Given the description of an element on the screen output the (x, y) to click on. 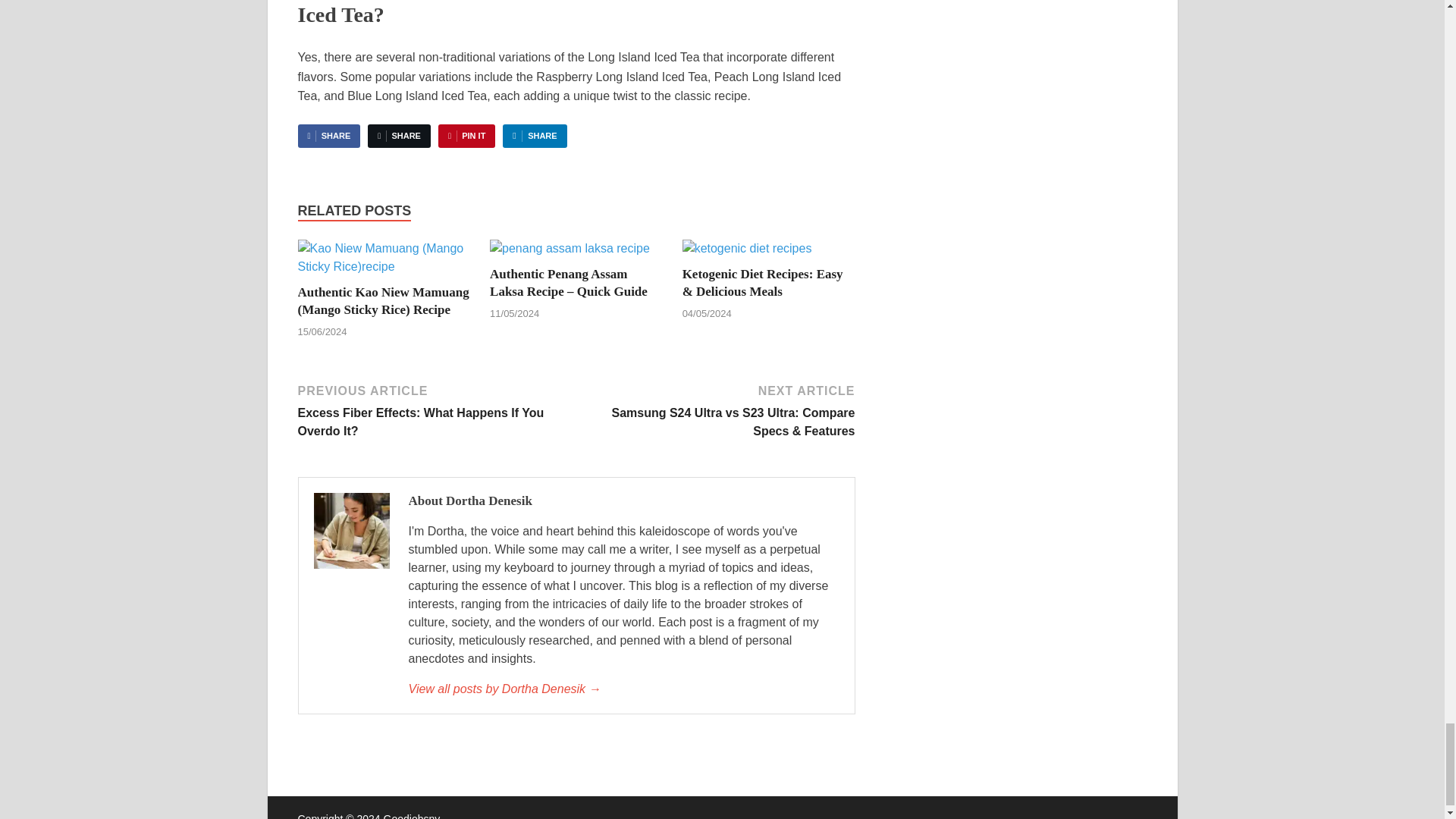
SHARE (399, 136)
SHARE (534, 136)
PIN IT (466, 136)
Dortha Denesik (622, 689)
SHARE (328, 136)
